Given the description of an element on the screen output the (x, y) to click on. 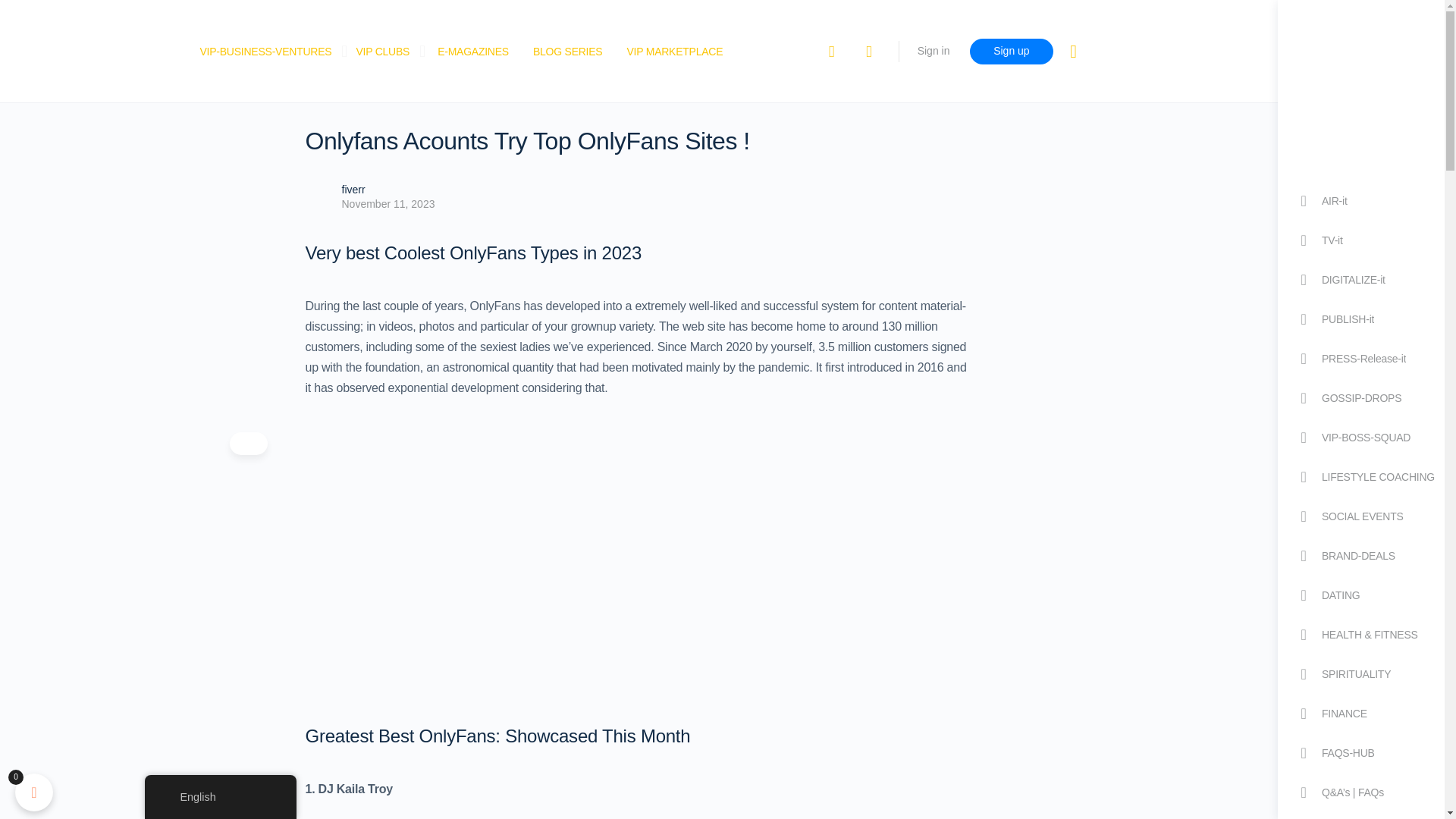
VIP-BUSINESS-VENTURES (265, 51)
English (168, 797)
